Given the description of an element on the screen output the (x, y) to click on. 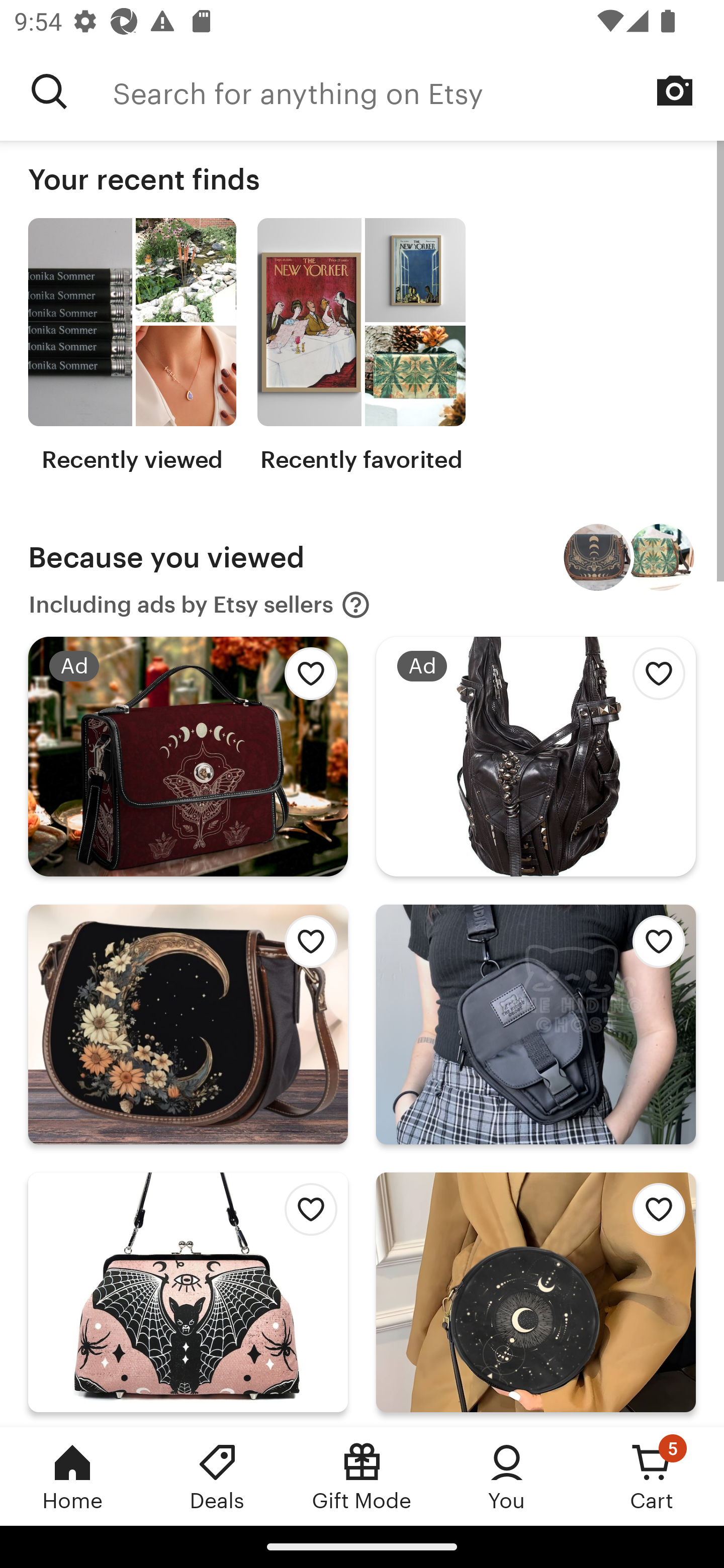
Search for anything on Etsy (49, 91)
Search by image (674, 90)
Search for anything on Etsy (418, 91)
Recently viewed (132, 345)
Recently favorited (361, 345)
Including ads by Etsy sellers (199, 604)
Deals (216, 1475)
Gift Mode (361, 1475)
You (506, 1475)
Cart, 5 new notifications Cart (651, 1475)
